Given the description of an element on the screen output the (x, y) to click on. 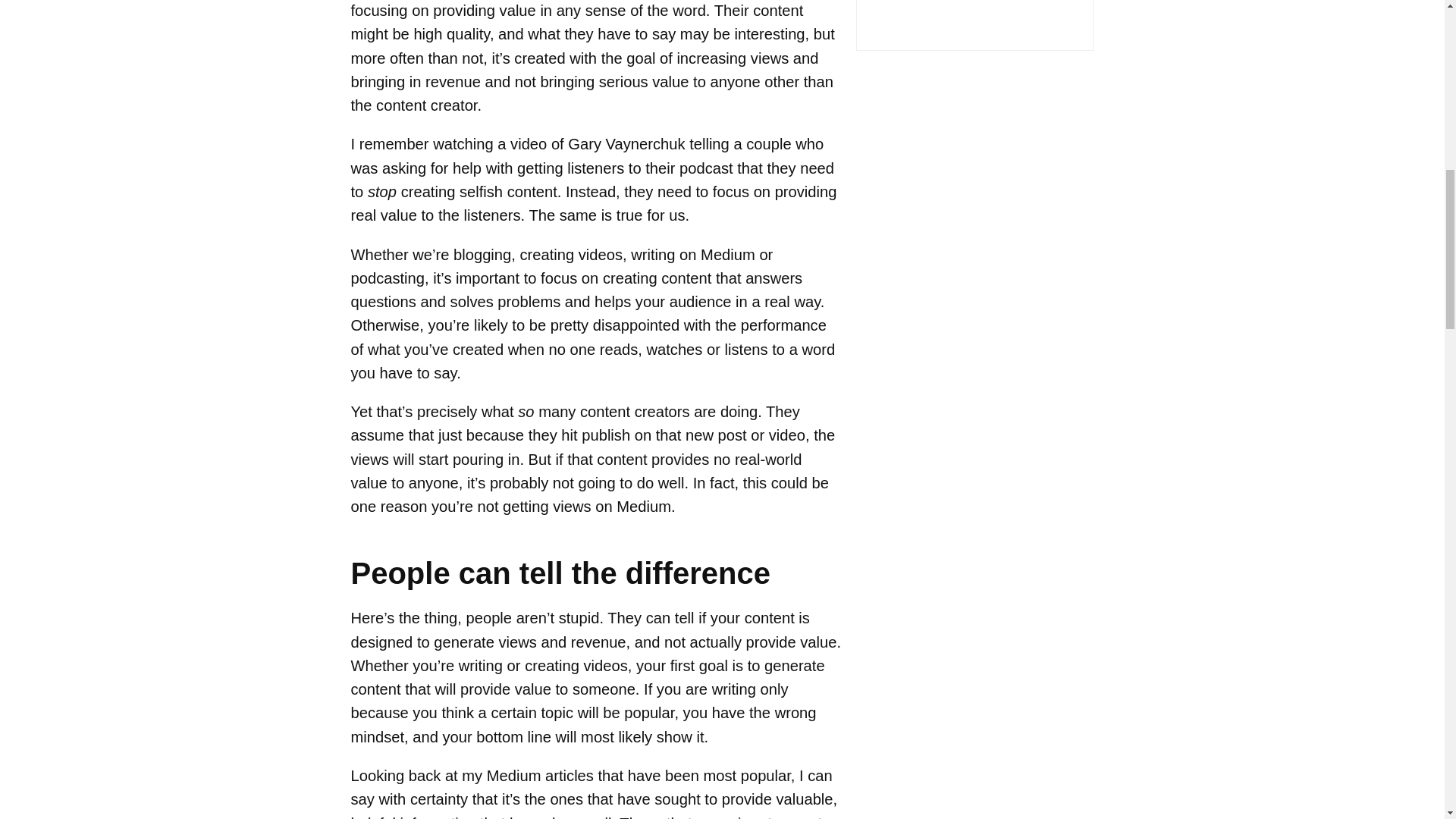
not getting views on Medium (573, 506)
